Given the description of an element on the screen output the (x, y) to click on. 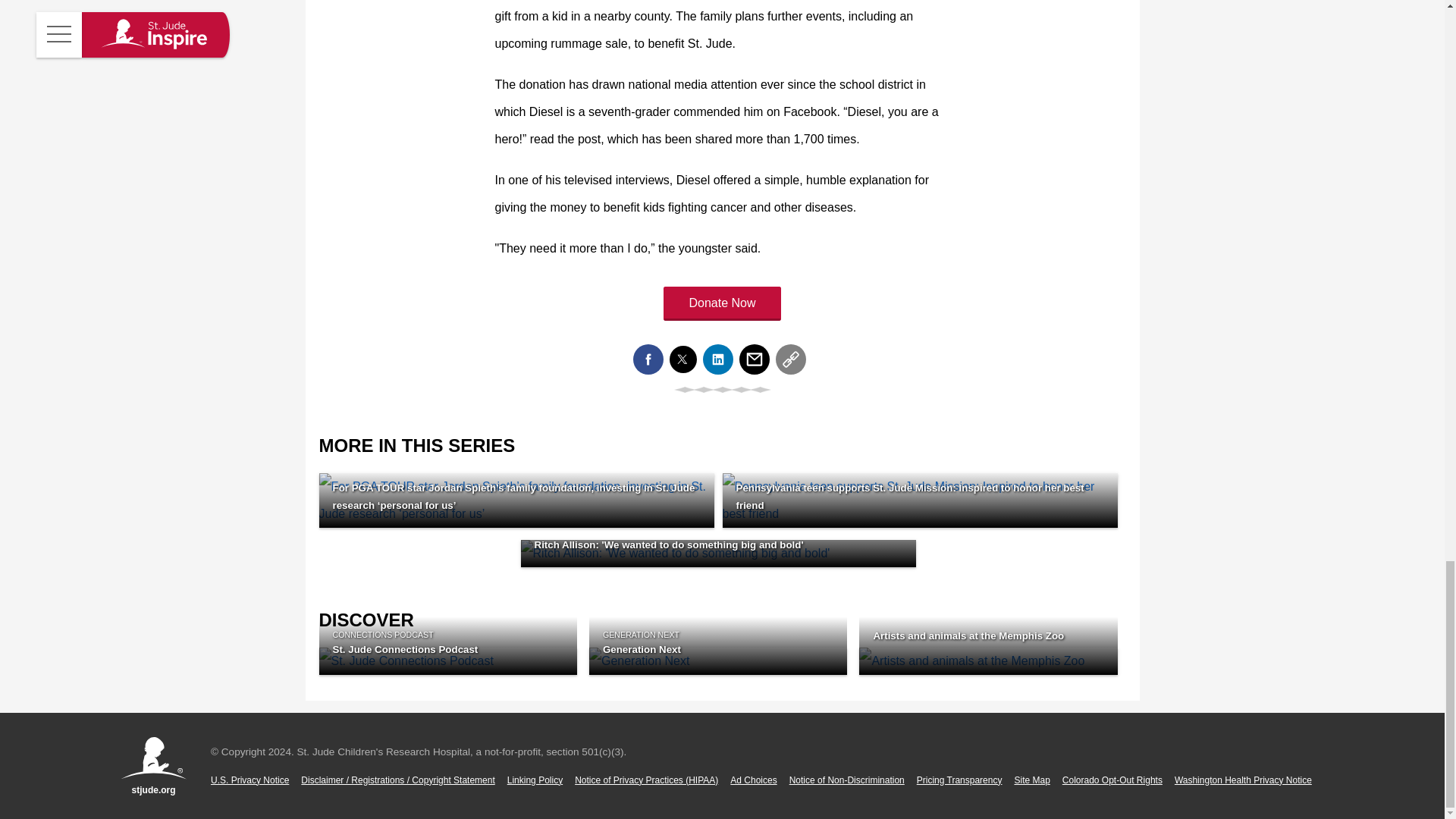
Linking Policy (534, 779)
Site Map (1031, 779)
Pricing Transparency (960, 779)
Linking Policy (534, 779)
Ad Choices (753, 779)
Share through Facebook (646, 358)
Ritch Allison: 'We wanted to do something big and bold' (717, 553)
U.S. Privacy Notice (249, 779)
Notice of Non-Discrimination (846, 779)
